Given the description of an element on the screen output the (x, y) to click on. 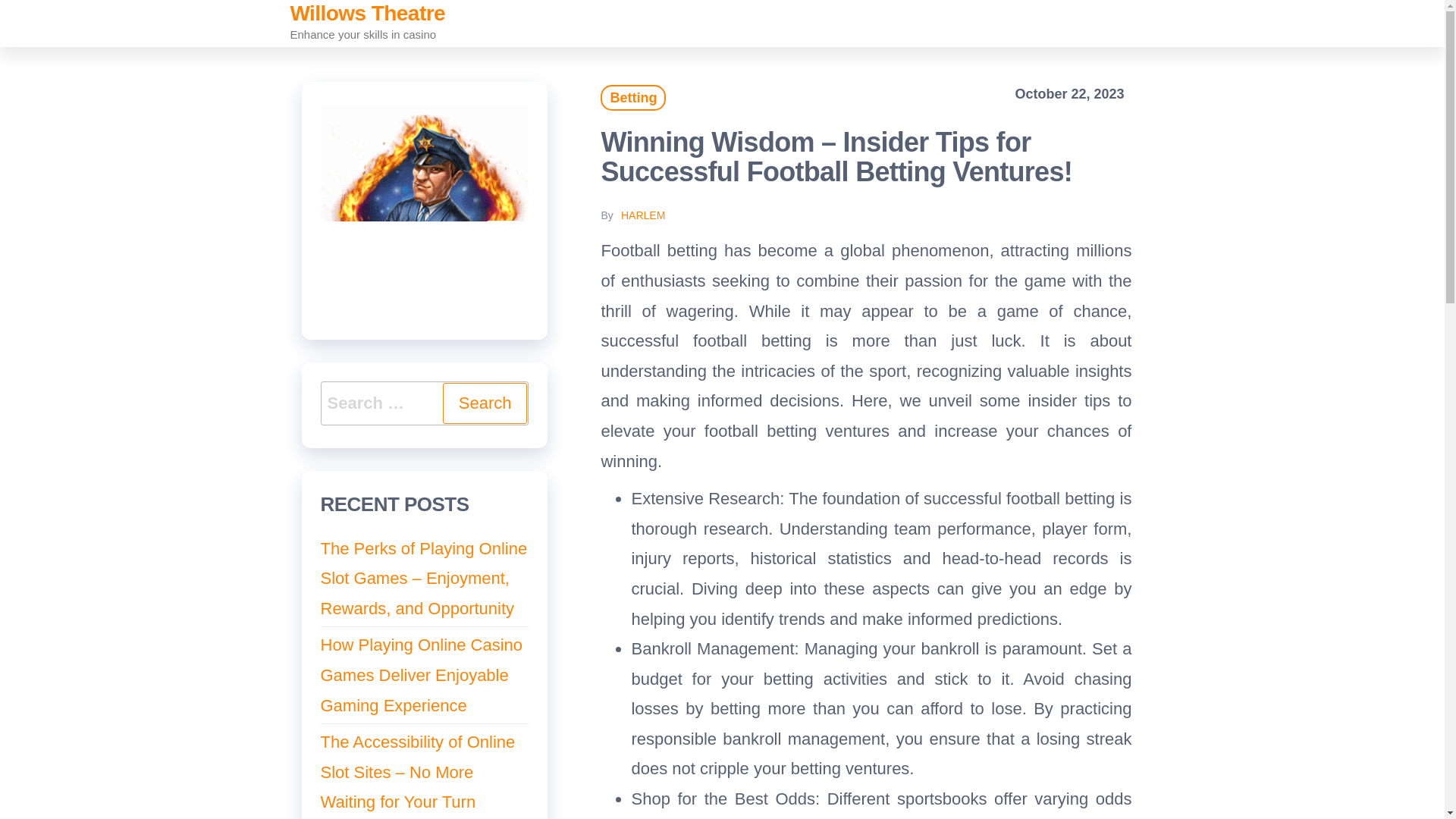
Search (484, 403)
Willows Theatre (367, 13)
Betting (632, 97)
Search (484, 403)
HARLEM (643, 215)
Search (484, 403)
